Given the description of an element on the screen output the (x, y) to click on. 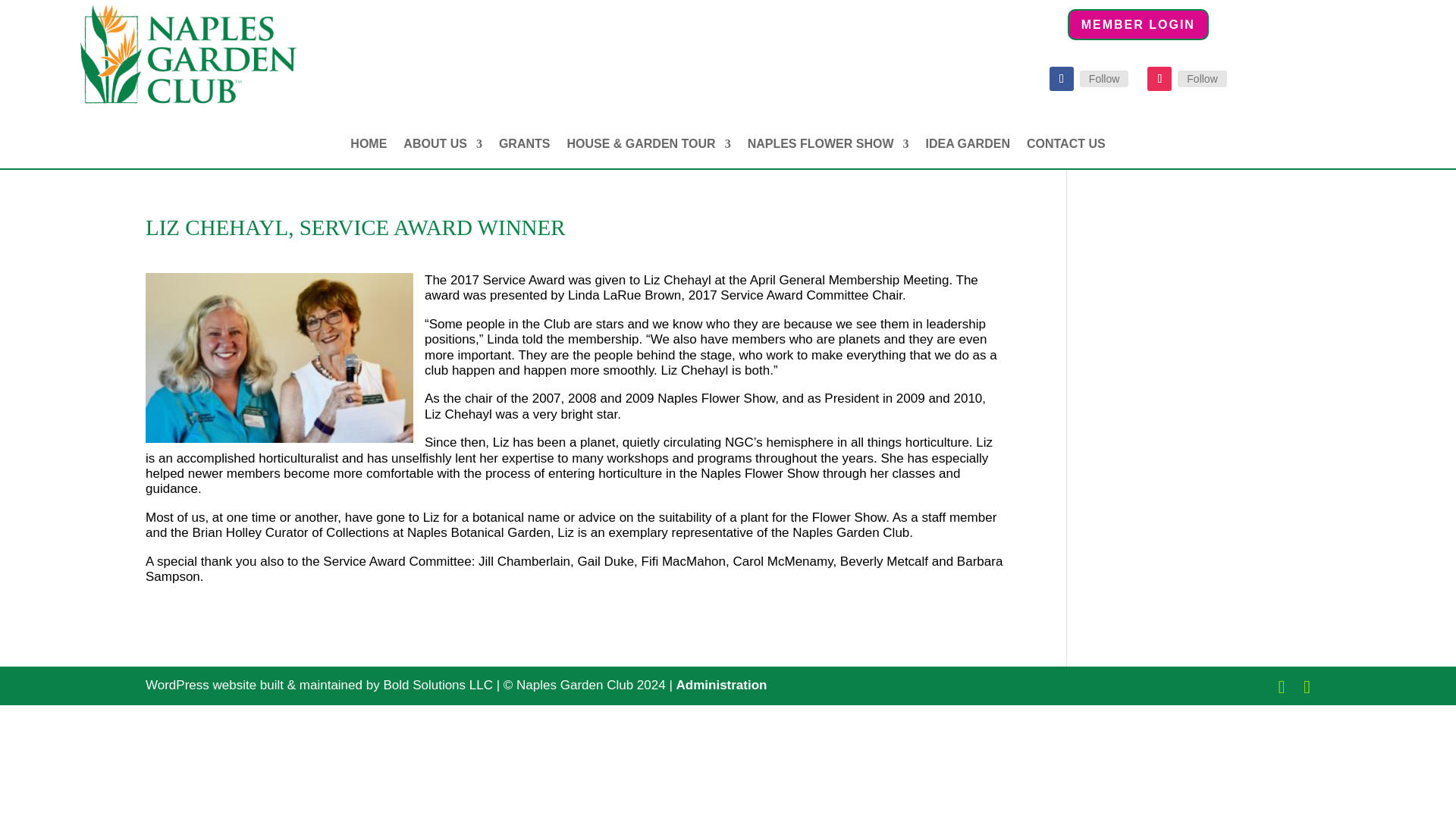
MEMBER LOGIN (1137, 24)
Follow (1104, 78)
Follow on Instagram (1159, 78)
Follow on Facebook (1061, 78)
HOME (368, 146)
GRANTS (524, 146)
Instagram (1201, 78)
Facebook (1104, 78)
IDEA GARDEN (968, 146)
ABOUT US (442, 146)
Follow (1201, 78)
NAPLES FLOWER SHOW (828, 146)
CONTACT US (1065, 146)
